Given the description of an element on the screen output the (x, y) to click on. 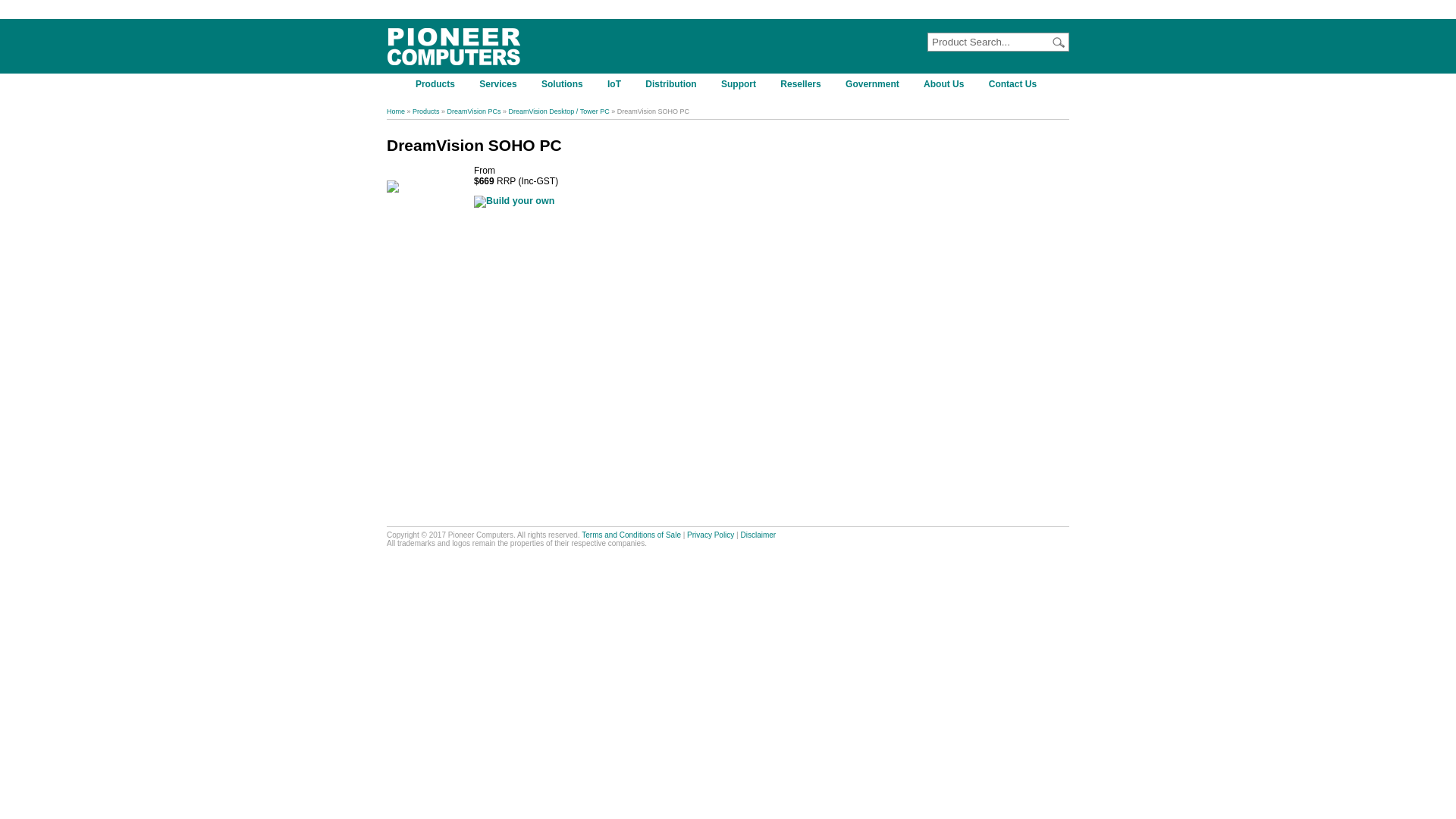
Products Element type: text (425, 111)
Disclaimer Element type: text (757, 534)
Support Element type: text (740, 84)
Distribution Element type: text (672, 83)
Products Element type: text (436, 83)
DreamVision Desktop / Tower PC Element type: text (558, 111)
Support Element type: text (740, 83)
About Us Element type: text (945, 84)
DreamVision PCs Element type: text (474, 111)
Sign In Element type: text (1004, 9)
IoT Element type: text (615, 83)
Privacy Policy Element type: text (710, 534)
Government Element type: text (873, 83)
Distribution Element type: text (672, 84)
Government Element type: text (874, 84)
Terms and Conditions of Sale Element type: text (630, 534)
Resellers Element type: text (801, 84)
Solutions Element type: text (564, 84)
Home Element type: text (395, 111)
Solutions Element type: text (563, 83)
Services Element type: text (499, 84)
Contact Us Element type: text (1014, 84)
Products Element type: text (437, 84)
About Us Element type: text (945, 83)
Services Element type: text (499, 83)
Resellers Element type: text (801, 83)
IoT Element type: text (616, 84)
Register Element type: text (1052, 9)
Product Search... Element type: text (989, 41)
Contact Us Element type: text (1014, 83)
